Given the description of an element on the screen output the (x, y) to click on. 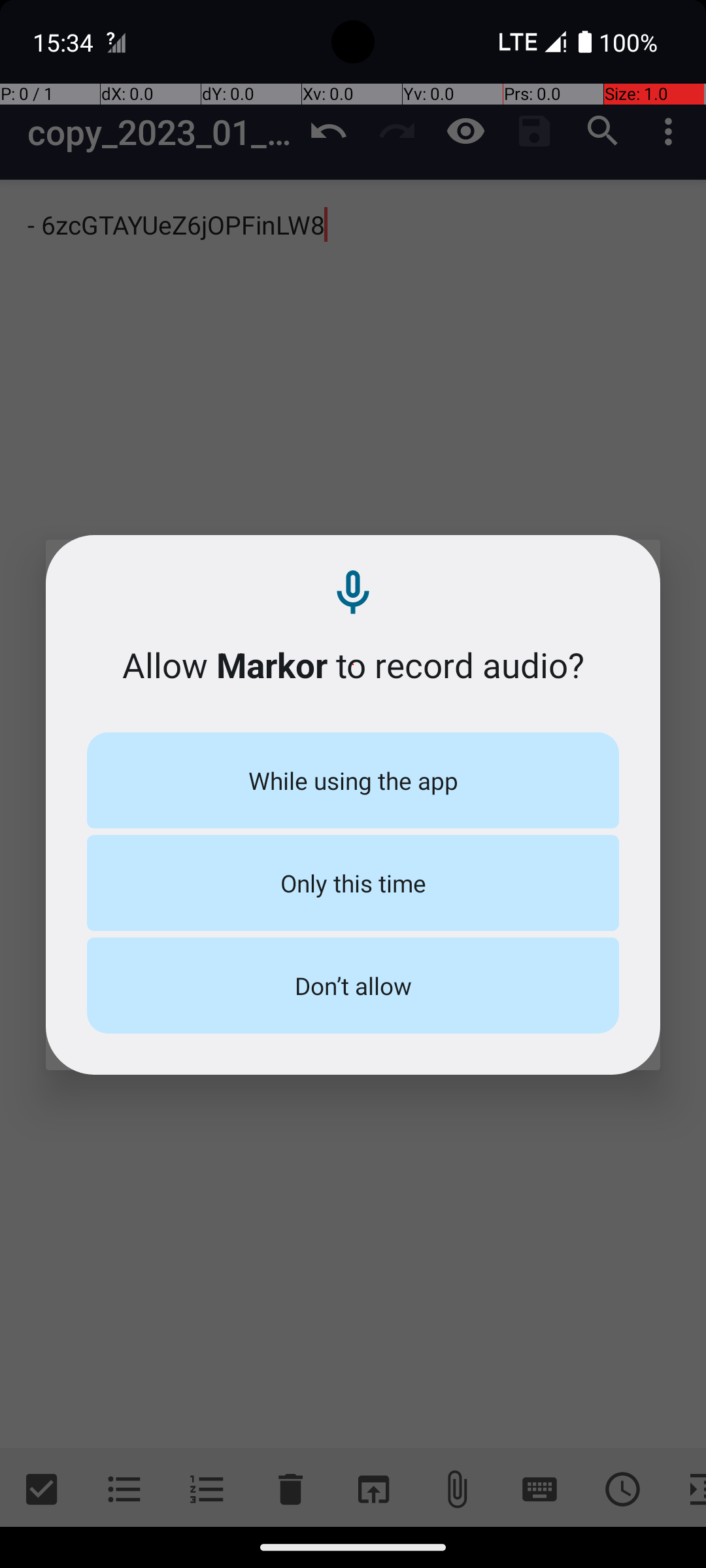
Allow Markor to record audio? Element type: android.widget.TextView (352, 664)
While using the app Element type: android.widget.Button (352, 780)
Only this time Element type: android.widget.Button (352, 882)
